Given the description of an element on the screen output the (x, y) to click on. 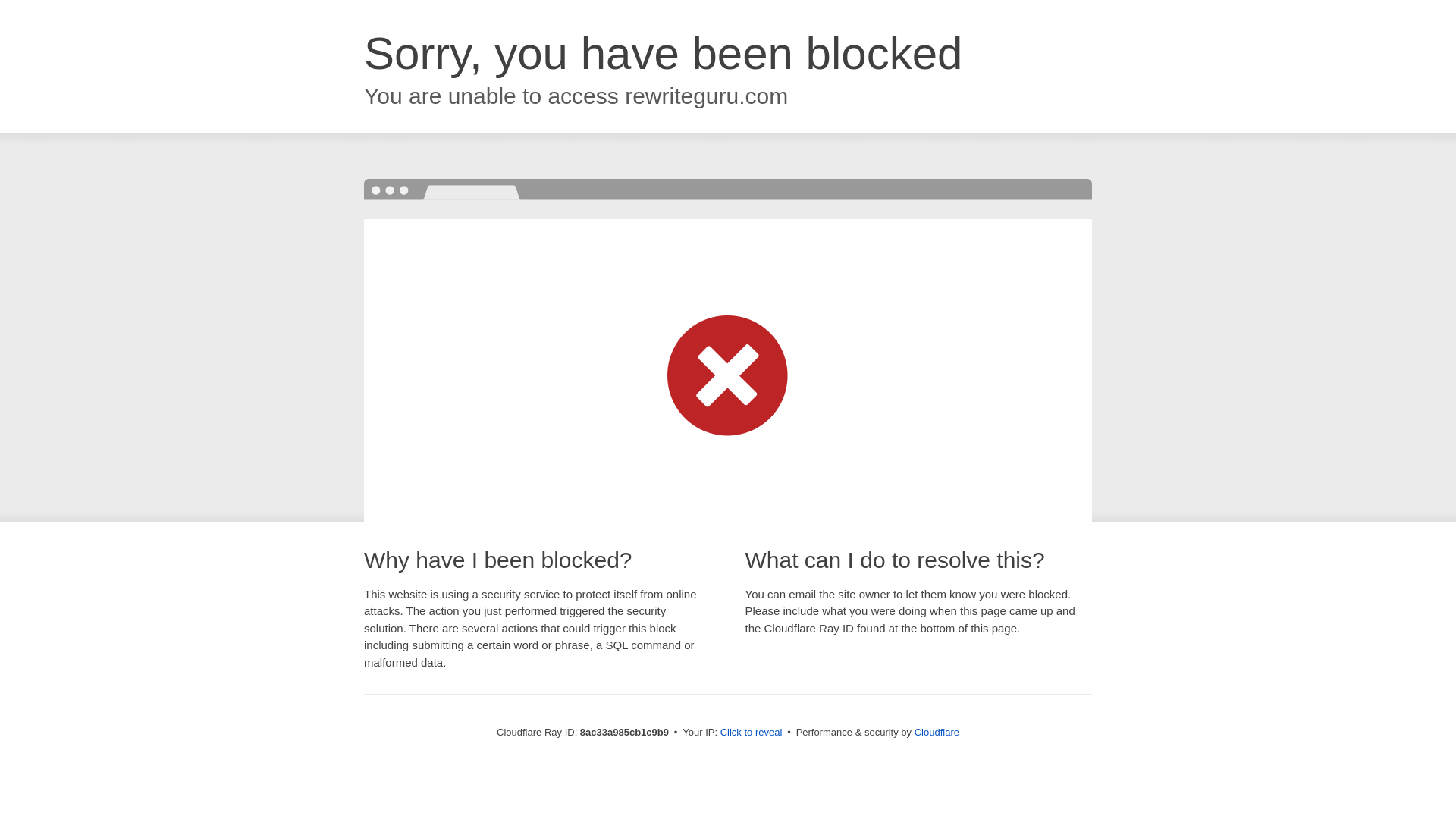
Cloudflare (936, 731)
Click to reveal (751, 732)
